Given the description of an element on the screen output the (x, y) to click on. 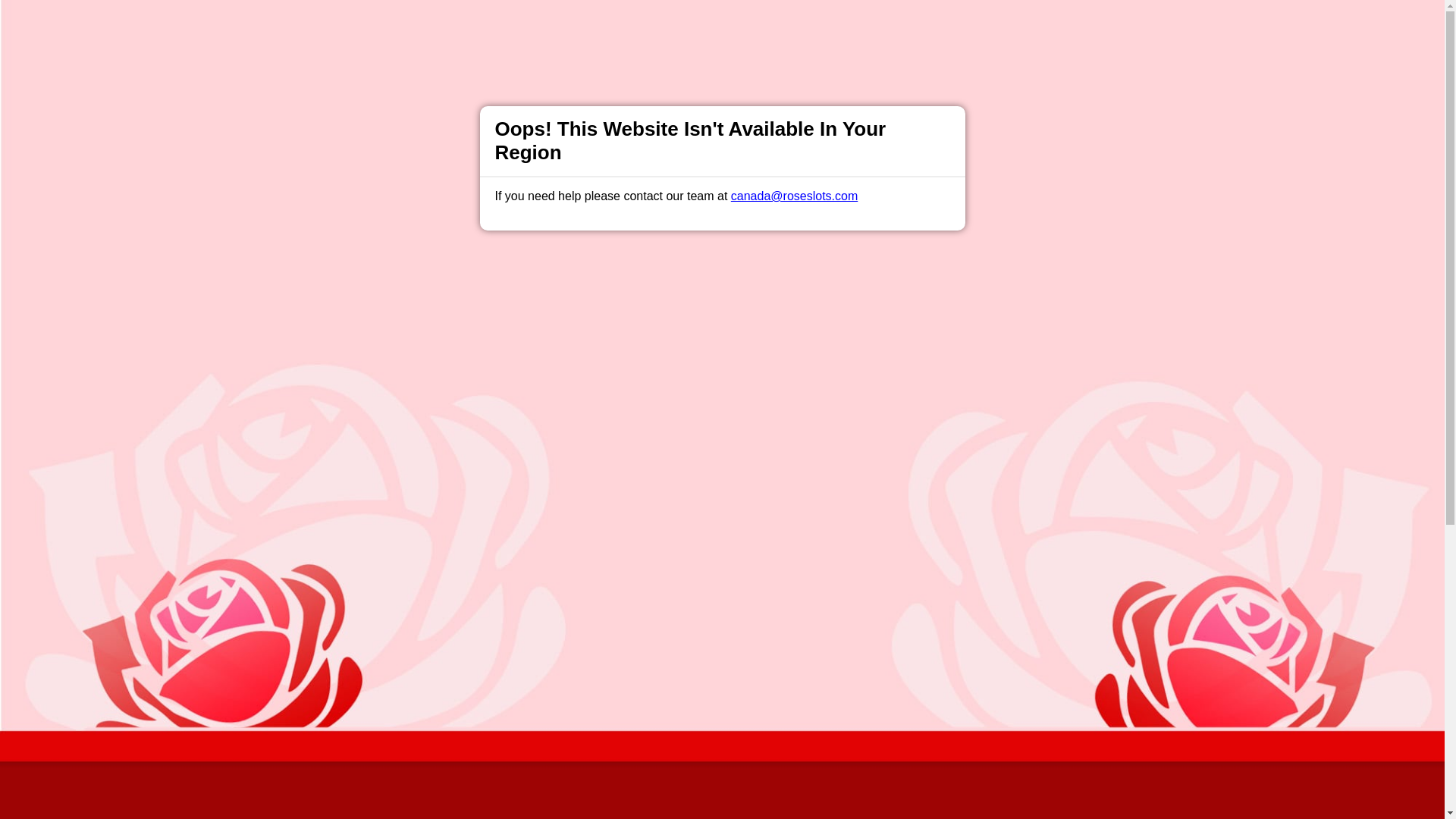
Play Now (748, 269)
Join Now (1054, 26)
Login (963, 26)
Trophies (497, 26)
Promotions (565, 26)
Slot Vegas play now (722, 207)
All Games (640, 26)
Join Now (694, 269)
